Given the description of an element on the screen output the (x, y) to click on. 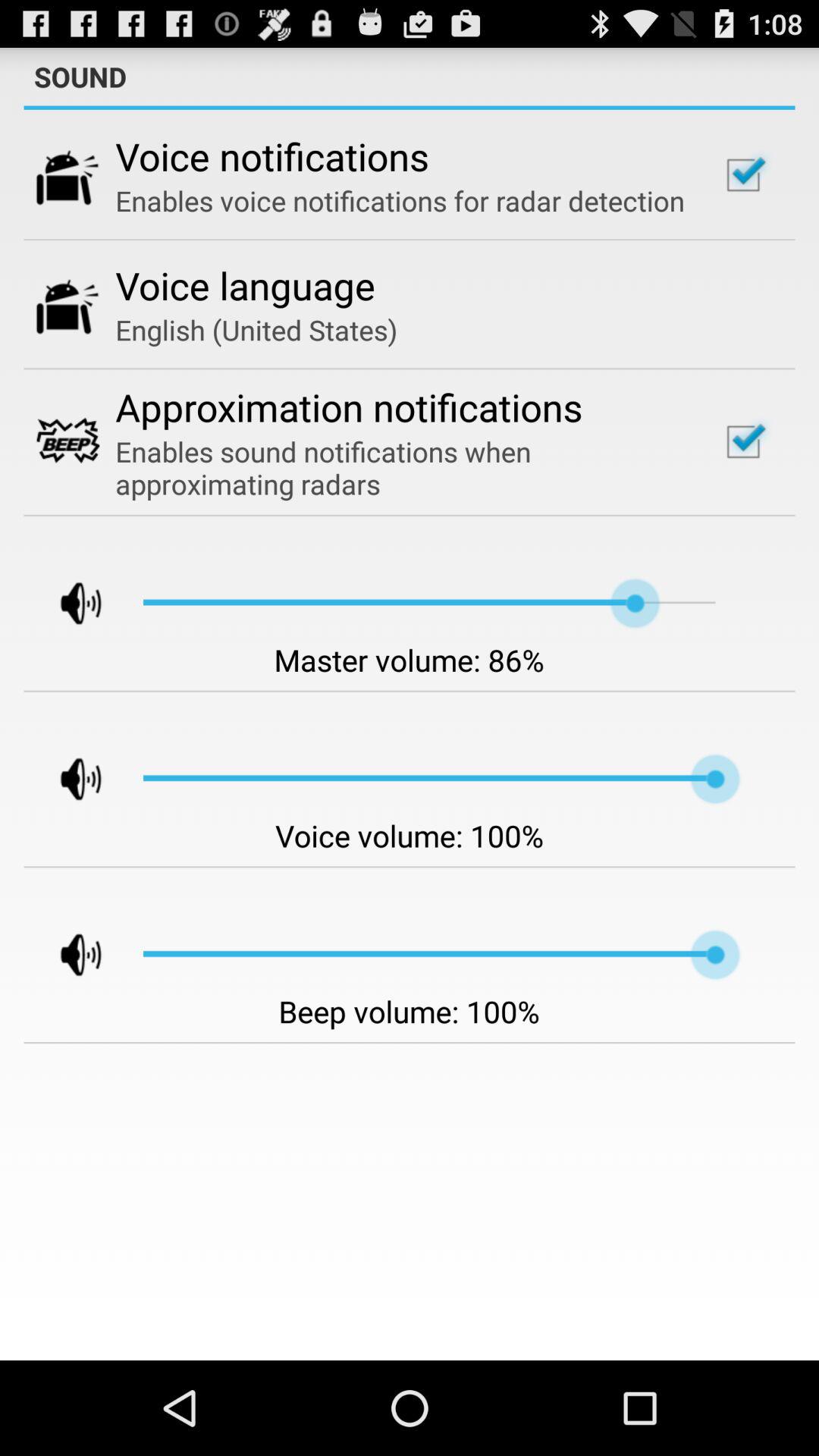
tap app below the sound (409, 107)
